Given the description of an element on the screen output the (x, y) to click on. 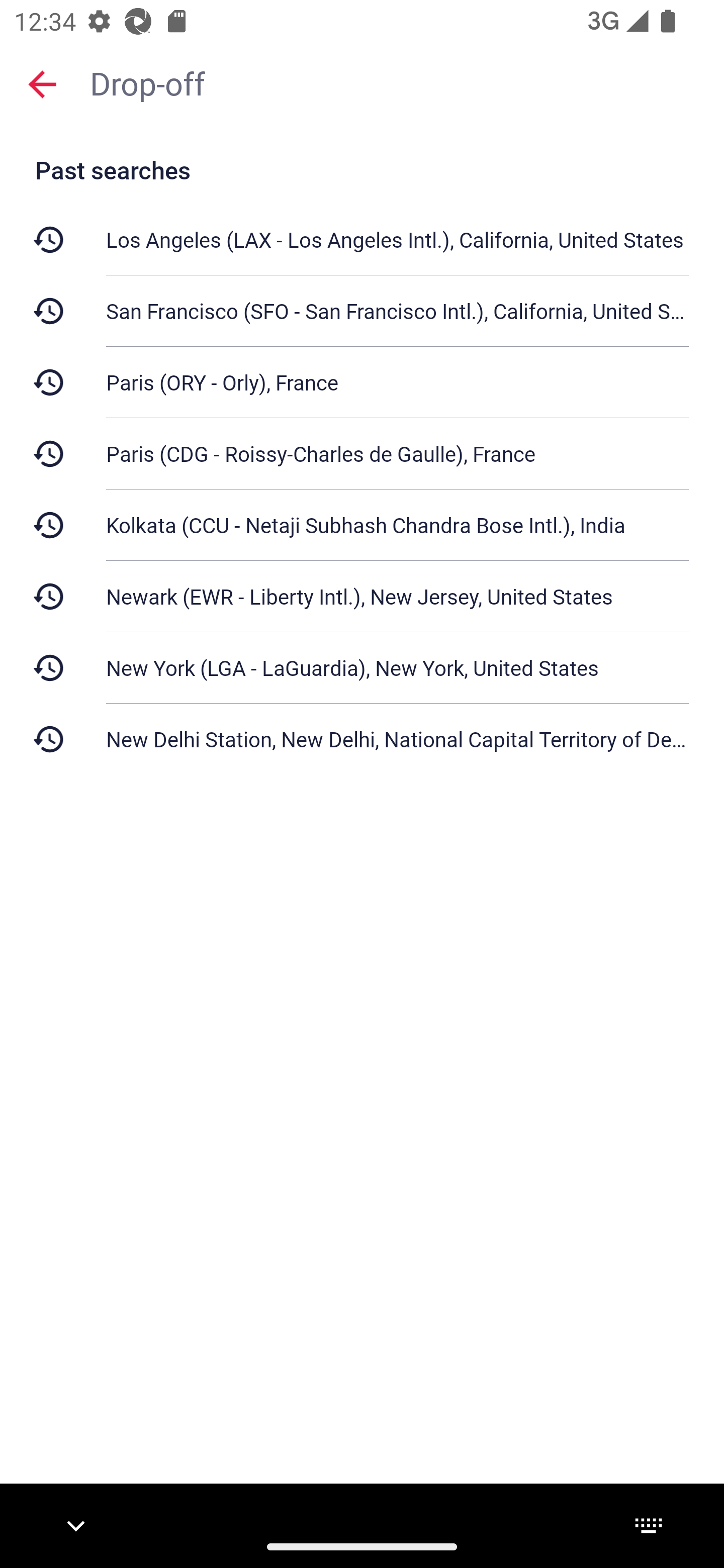
Close search screen (42, 84)
Drop-off,  (397, 82)
